Given the description of an element on the screen output the (x, y) to click on. 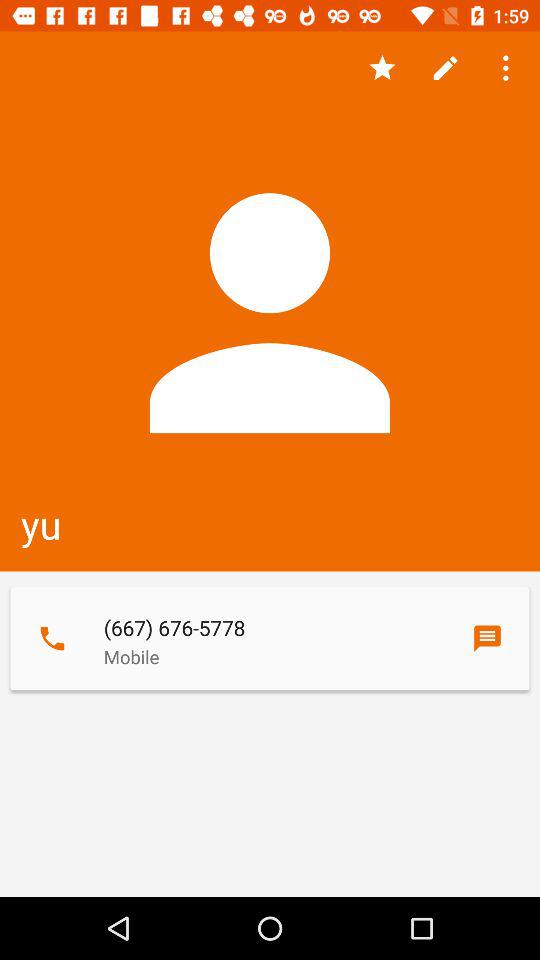
press item above the yu (508, 67)
